Given the description of an element on the screen output the (x, y) to click on. 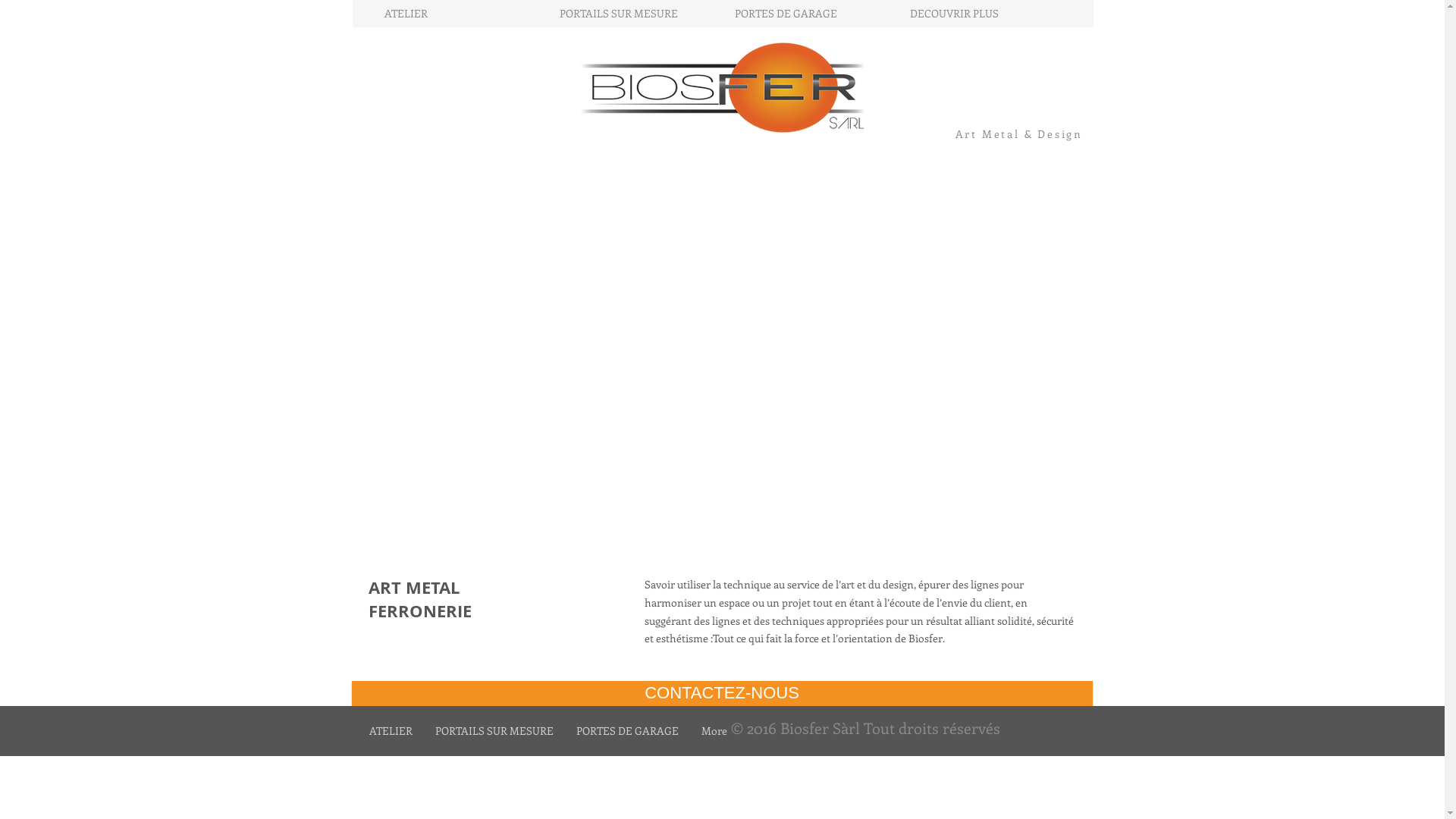
PORTAILS SUR MESURE Element type: text (493, 730)
CONTACTEZ-NOUS Element type: text (721, 693)
PORTES DE GARAGE Element type: text (809, 13)
PORTES DE GARAGE Element type: text (626, 730)
PORTAILS SUR MESURE Element type: text (634, 13)
ATELIER Element type: text (459, 13)
ATELIER Element type: text (390, 730)
Art Metal & Design Element type: text (1018, 133)
